Given the description of an element on the screen output the (x, y) to click on. 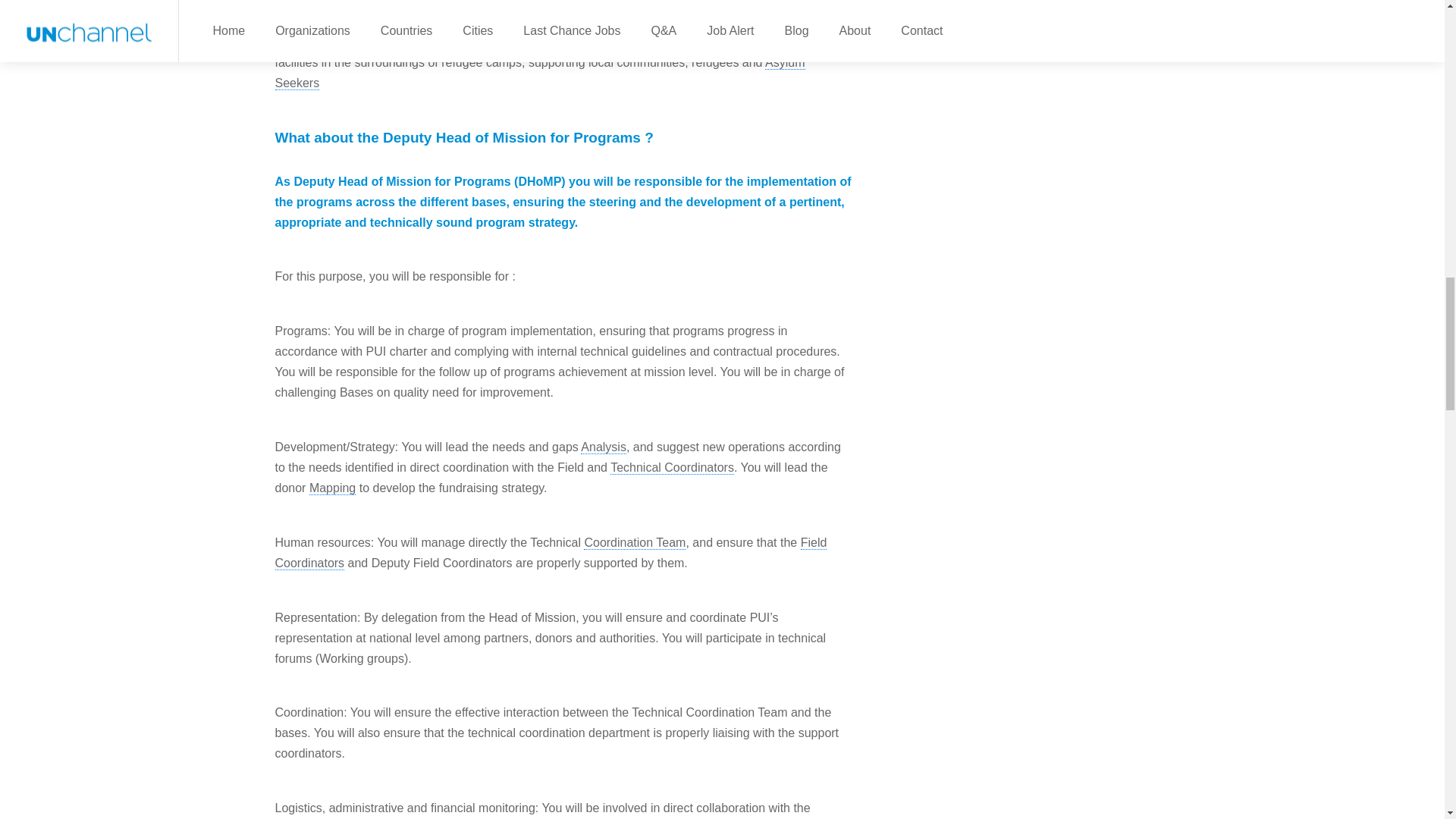
Asylum Seekers (540, 73)
Technical Coordinators (671, 468)
Analysis (603, 447)
Field Coordinators (551, 553)
Mapping (331, 488)
Coordination Team (634, 542)
